Given the description of an element on the screen output the (x, y) to click on. 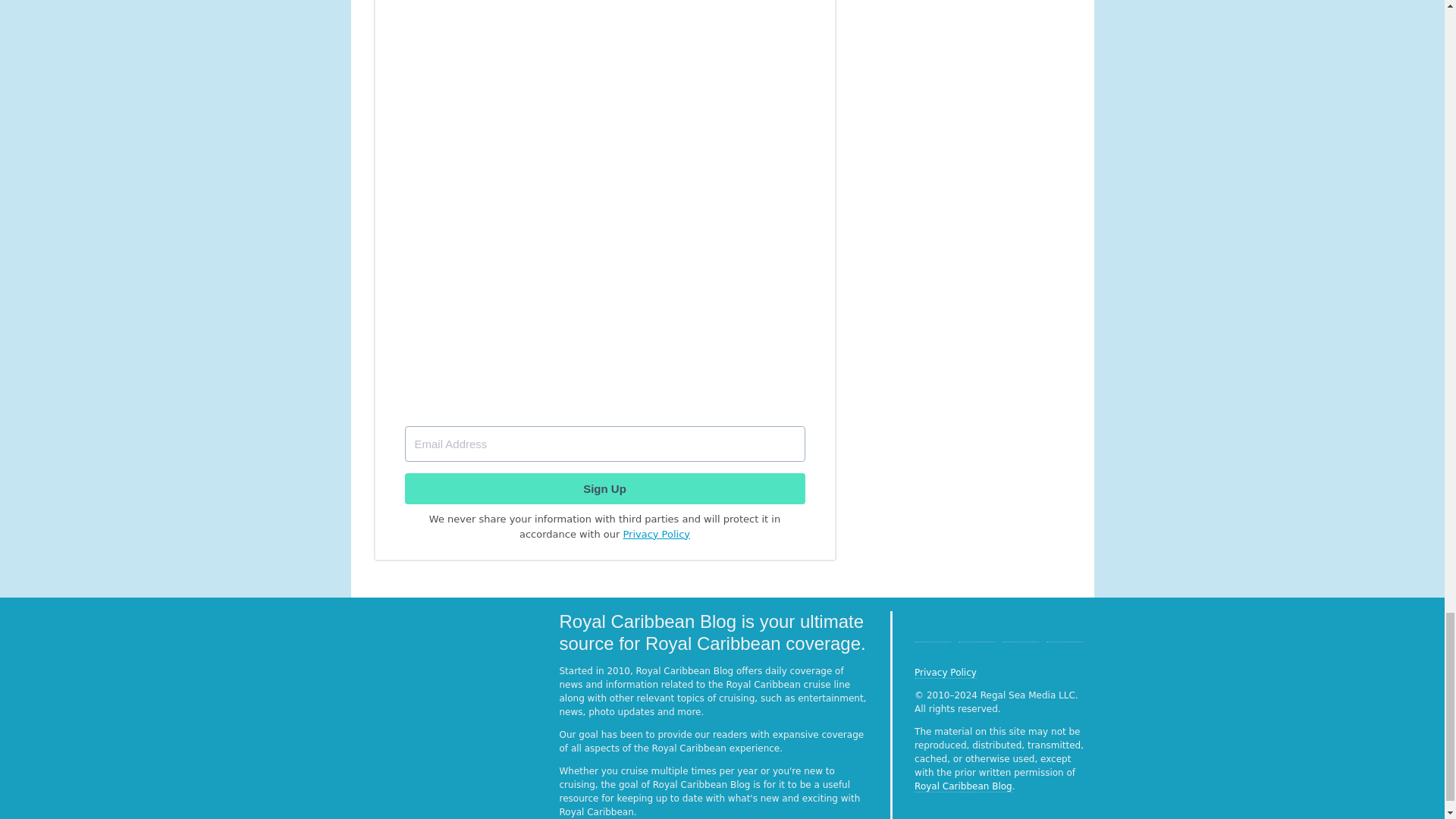
Sign Up (604, 488)
Privacy Policy (656, 533)
